Given the description of an element on the screen output the (x, y) to click on. 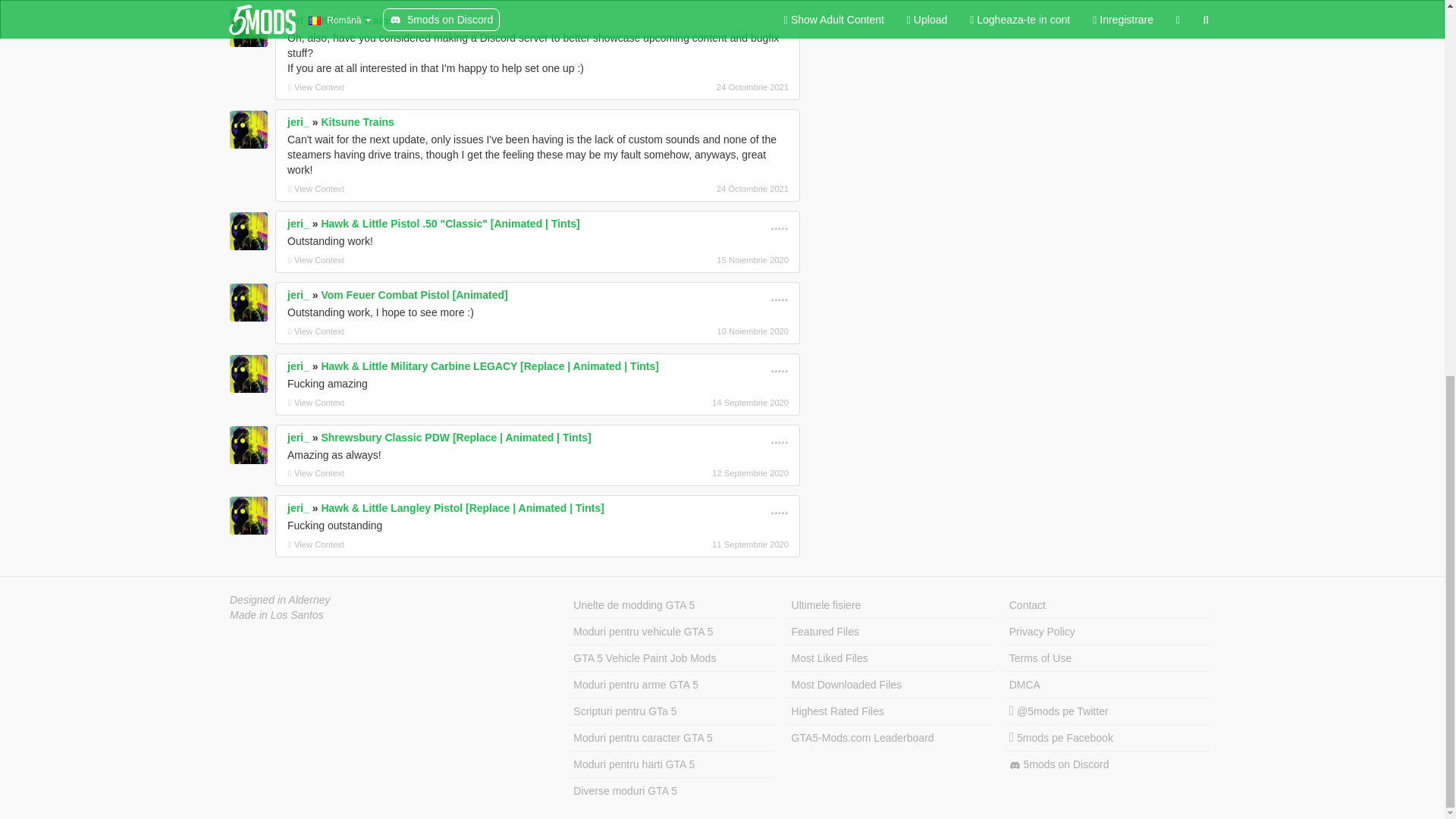
Awesome! (778, 223)
